Given the description of an element on the screen output the (x, y) to click on. 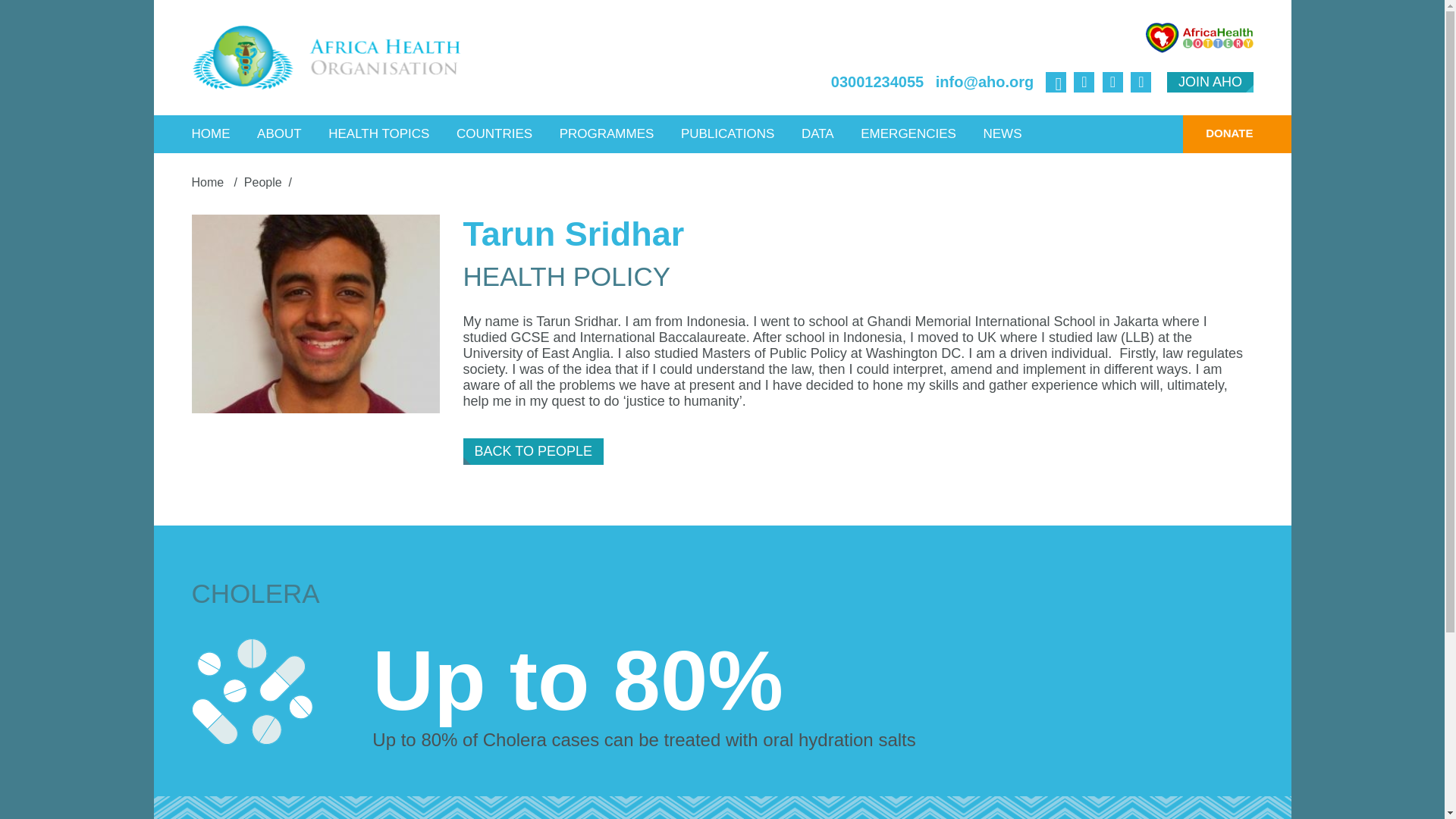
Go to People. (263, 182)
DATA (817, 134)
HOME (210, 134)
Go to Africa Health Organisation. (208, 182)
Home (208, 182)
COUNTRIES (494, 134)
EMERGENCIES (908, 134)
PUBLICATIONS (727, 134)
03001234055 (877, 81)
BACK TO PEOPLE (533, 451)
PROGRAMMES (606, 134)
JOIN AHO (1210, 82)
DONATE (1217, 134)
NEWS (1001, 134)
ABOUT (279, 134)
